Given the description of an element on the screen output the (x, y) to click on. 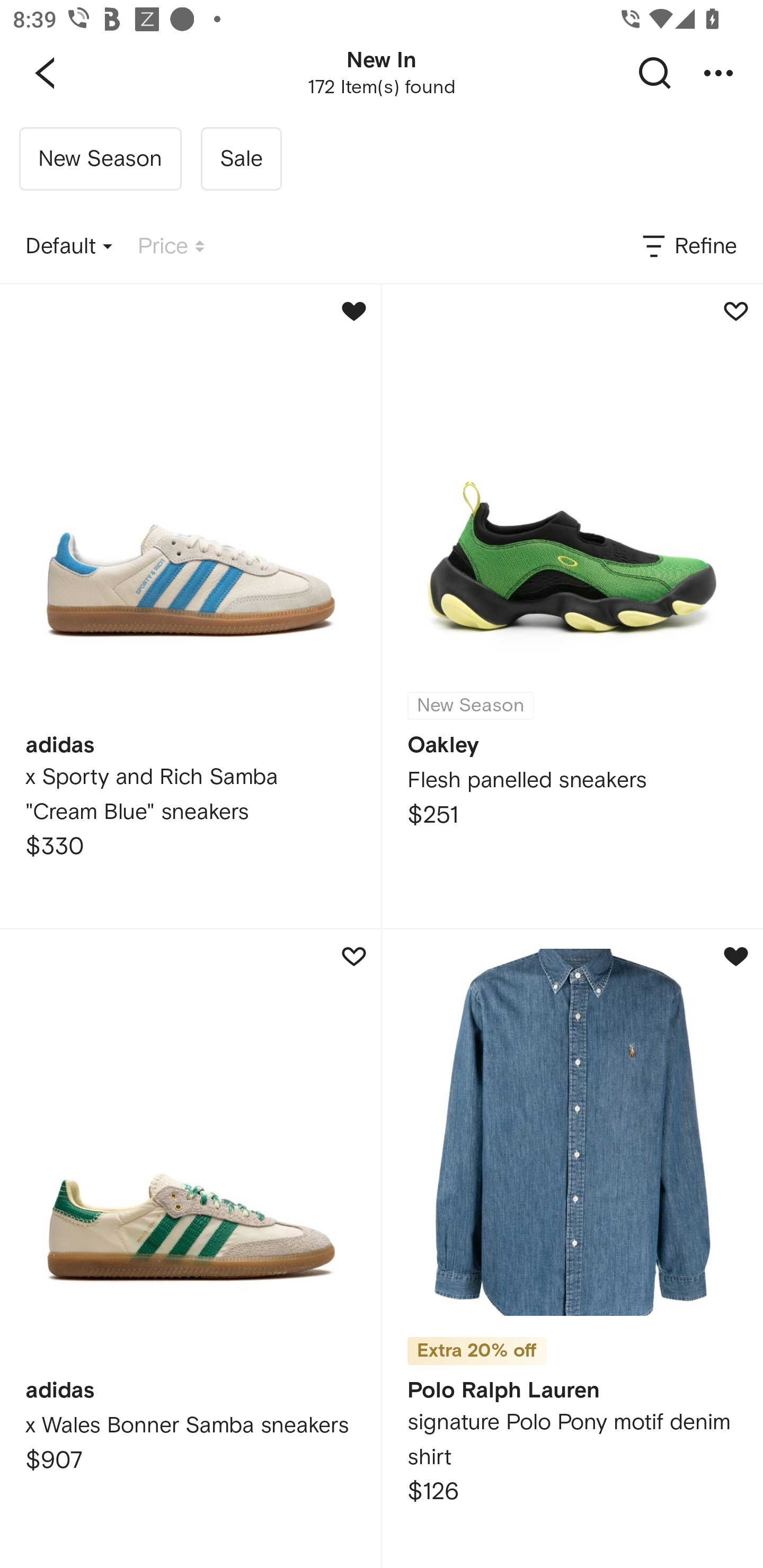
New Season (100, 158)
Sale (240, 158)
Default (68, 246)
Price (171, 246)
Refine (688, 246)
New Season Oakley Flesh panelled sneakers $251 (572, 605)
adidas x Wales Bonner Samba sneakers $907 (190, 1248)
Extra 20% off (477, 1344)
